Given the description of an element on the screen output the (x, y) to click on. 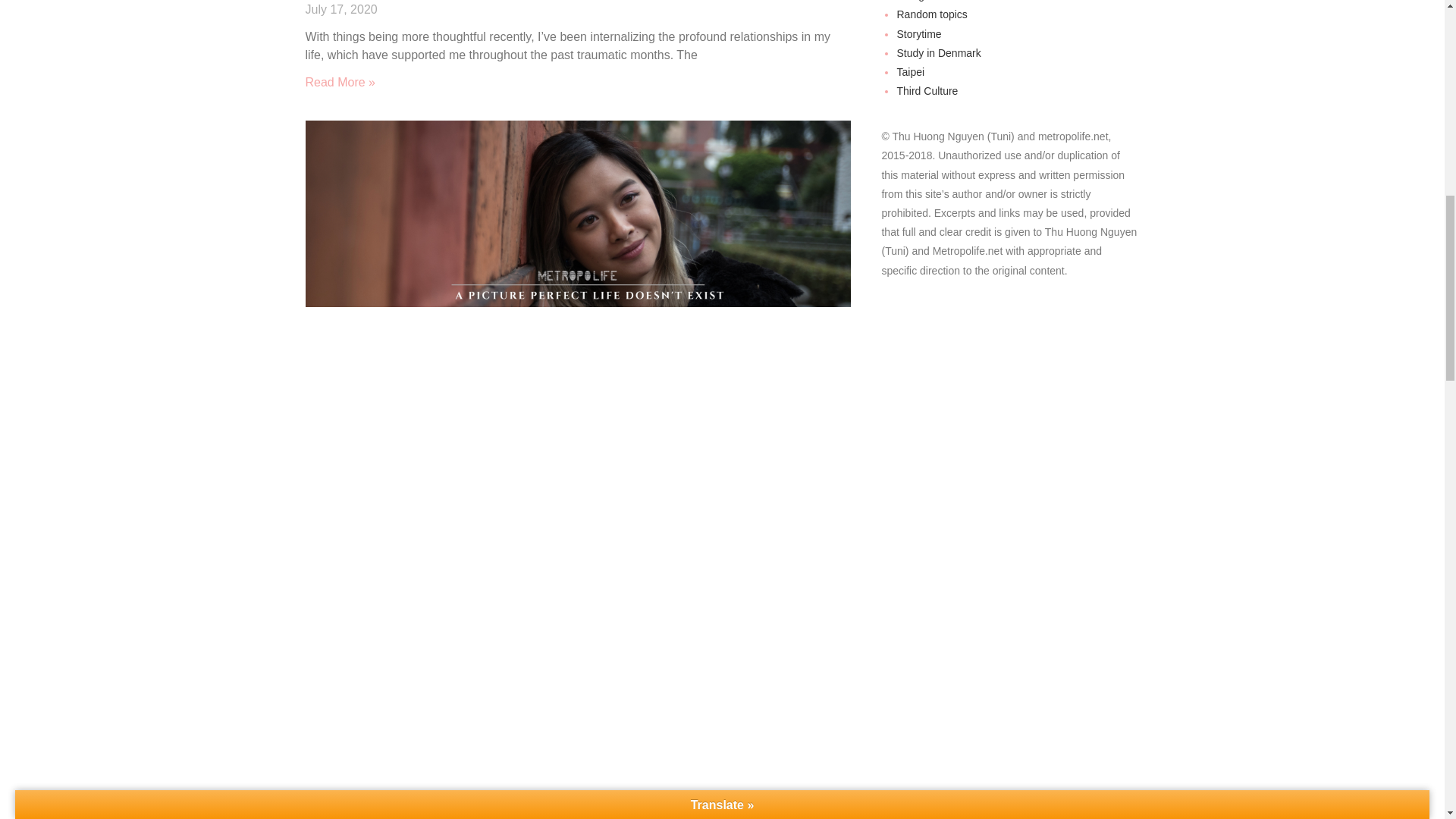
Study in Denmark (937, 52)
Third Culture (927, 91)
Living abroad (927, 0)
Storytime (918, 33)
Random topics (931, 14)
Taipei (910, 71)
